Given the description of an element on the screen output the (x, y) to click on. 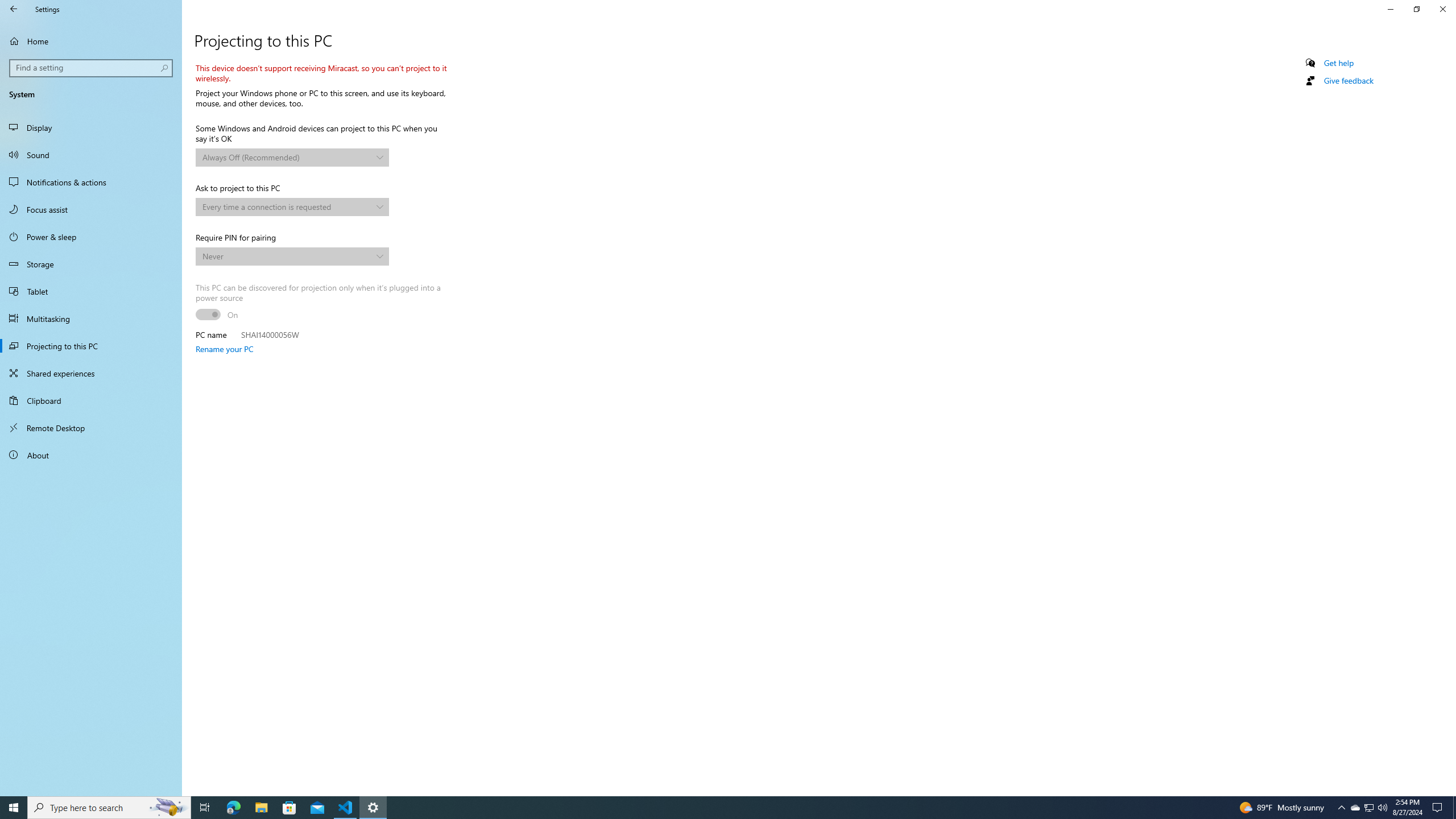
About (91, 454)
Projecting to this PC (91, 345)
Sound (91, 154)
Tablet (91, 290)
Get help (1338, 62)
Display (91, 126)
Multitasking (91, 318)
Clipboard (91, 400)
